Given the description of an element on the screen output the (x, y) to click on. 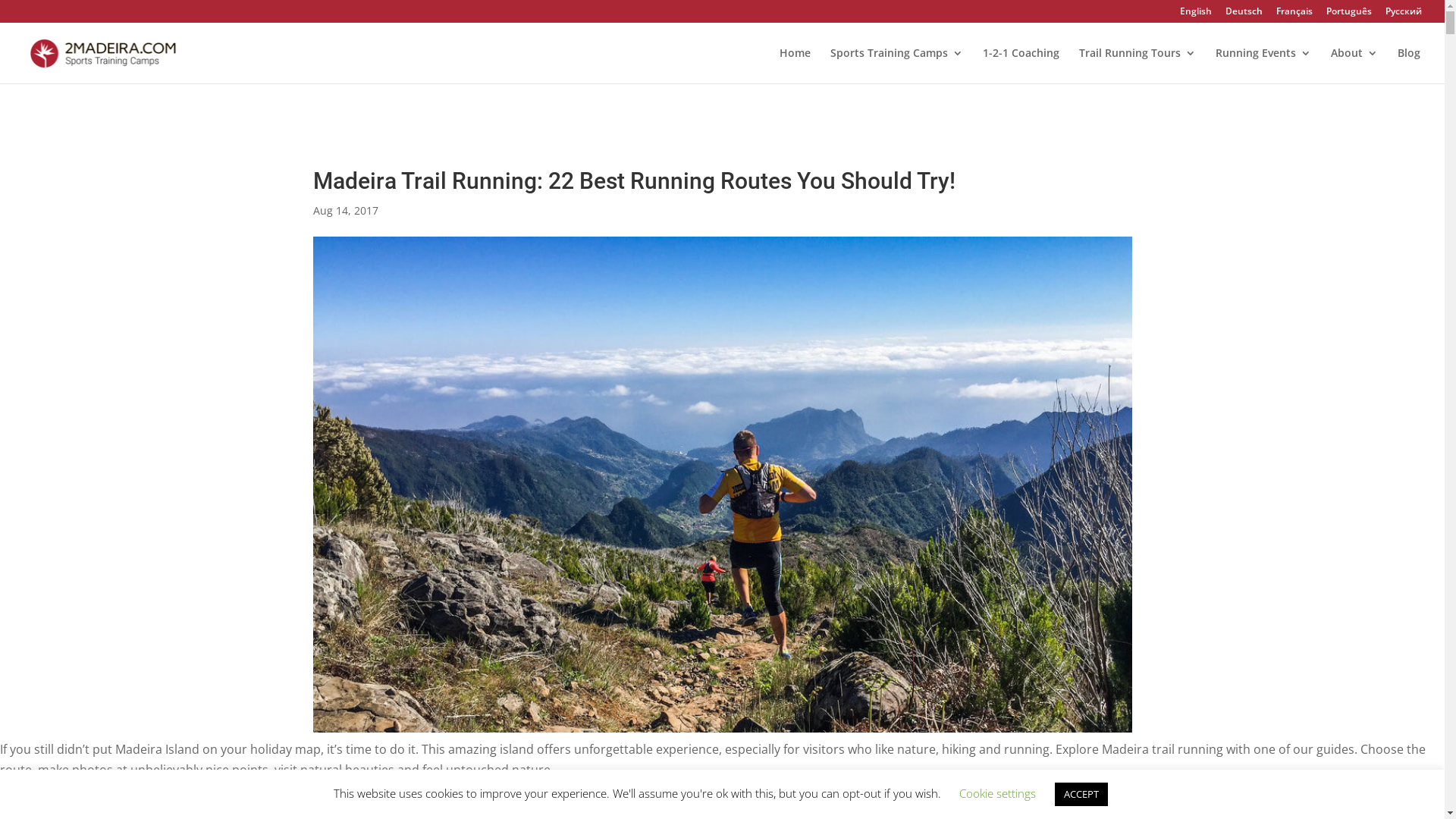
English Element type: text (1195, 14)
Sports Training Camps Element type: text (896, 65)
Cookie settings Element type: text (996, 792)
ACCEPT Element type: text (1080, 794)
Trail Running Tours Element type: text (1137, 65)
Running Events Element type: text (1263, 65)
Deutsch Element type: text (1243, 14)
Blog Element type: text (1408, 65)
Home Element type: text (794, 65)
1-2-1 Coaching Element type: text (1020, 65)
About Element type: text (1353, 65)
